Given the description of an element on the screen output the (x, y) to click on. 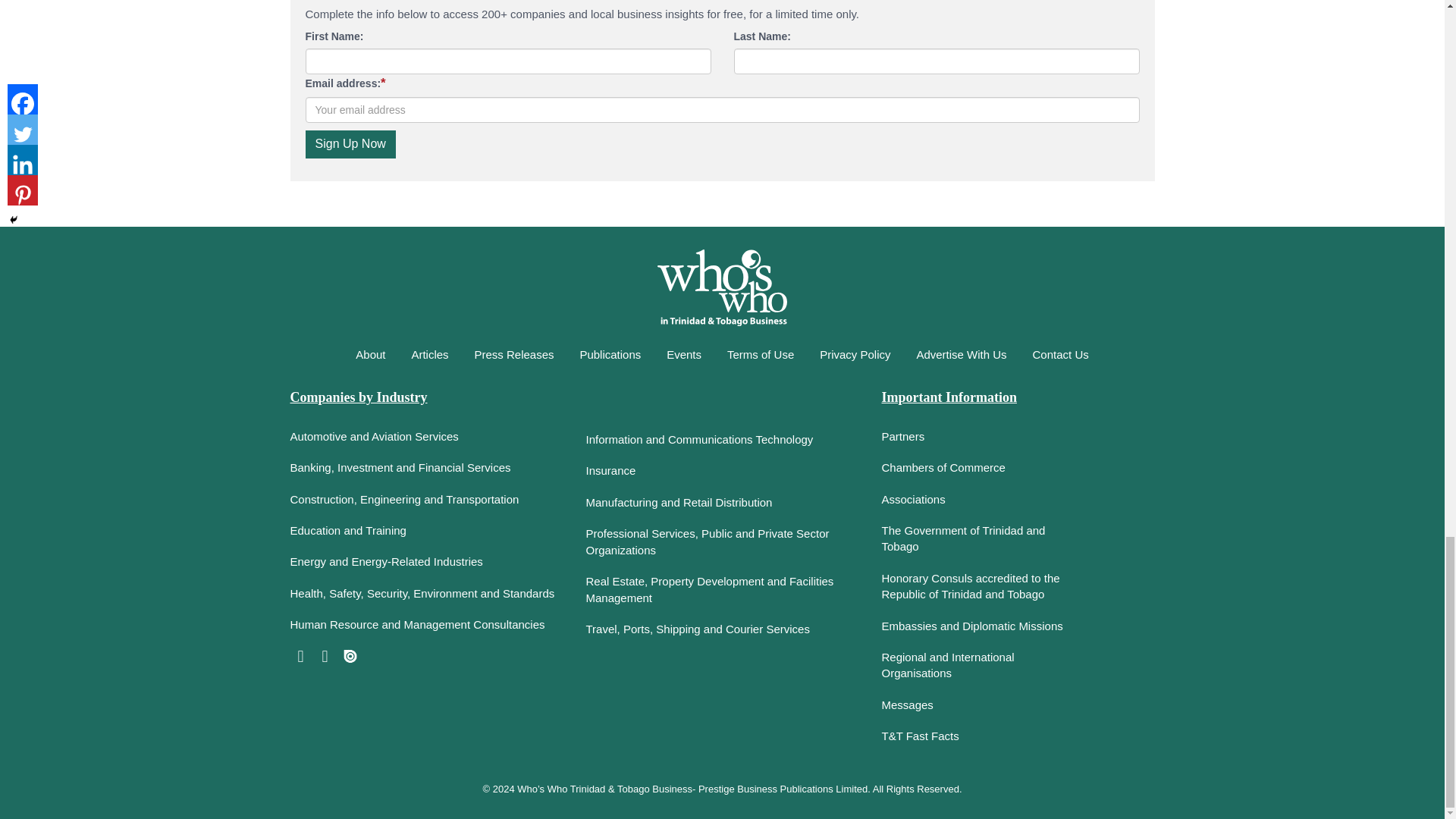
Events (684, 354)
Contact Us (1061, 354)
Terms of Use (760, 354)
Press Releases (513, 354)
Banking, Investment and Financial Services (425, 469)
Sign Up Now (349, 144)
Privacy Policy (854, 354)
Issuu Who's Who TNT Magazine (349, 656)
Advertise With Us (960, 354)
Automotive and Aviation Services (425, 437)
About (369, 354)
Publications (609, 354)
Sign Up Now (349, 144)
Articles (429, 354)
